Given the description of an element on the screen output the (x, y) to click on. 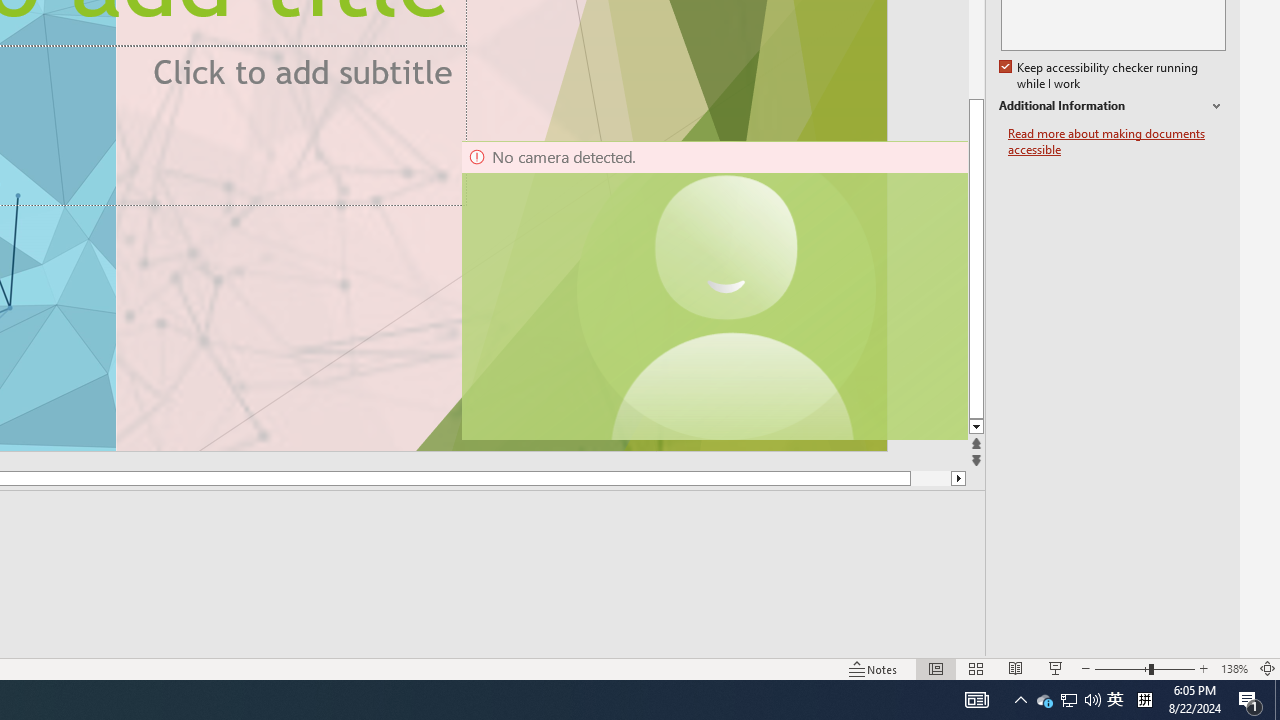
Camera 14, No camera detected. (713, 290)
Zoom 138% (1234, 668)
Keep accessibility checker running while I work (1099, 76)
Read more about making documents accessible (1117, 142)
Camera 11, No camera detected. (727, 290)
